Given the description of an element on the screen output the (x, y) to click on. 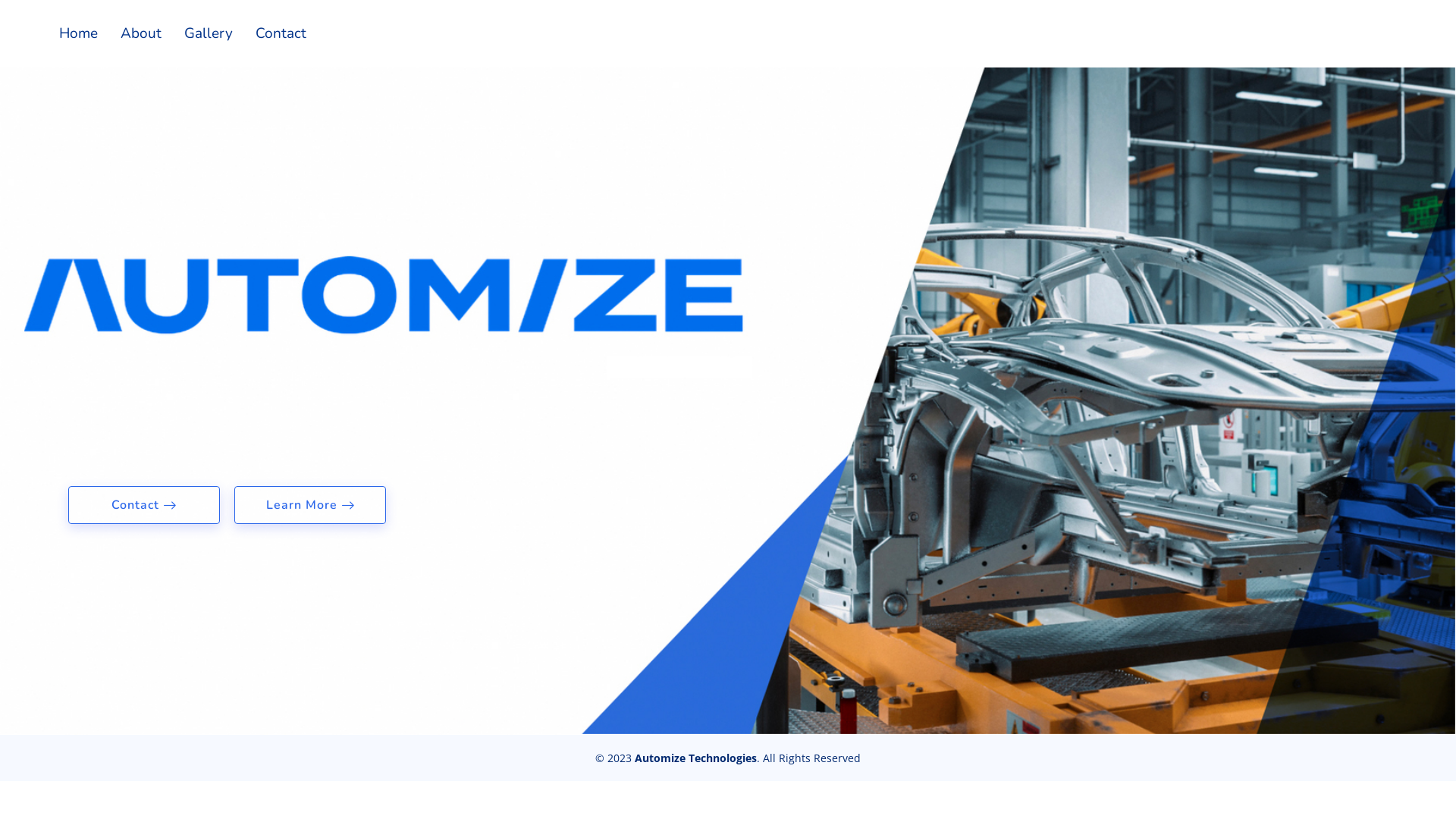
Gallery Element type: text (196, 33)
Home Element type: text (66, 33)
Contact Element type: text (269, 33)
About Element type: text (129, 33)
Learn More Element type: text (309, 505)
Contact Element type: text (143, 505)
